Given the description of an element on the screen output the (x, y) to click on. 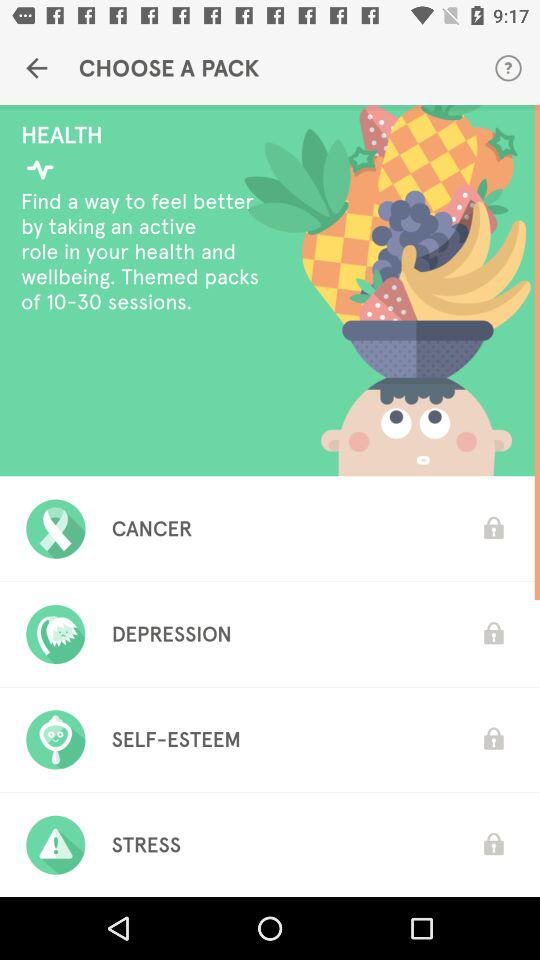
turn off the stress (146, 845)
